Given the description of an element on the screen output the (x, y) to click on. 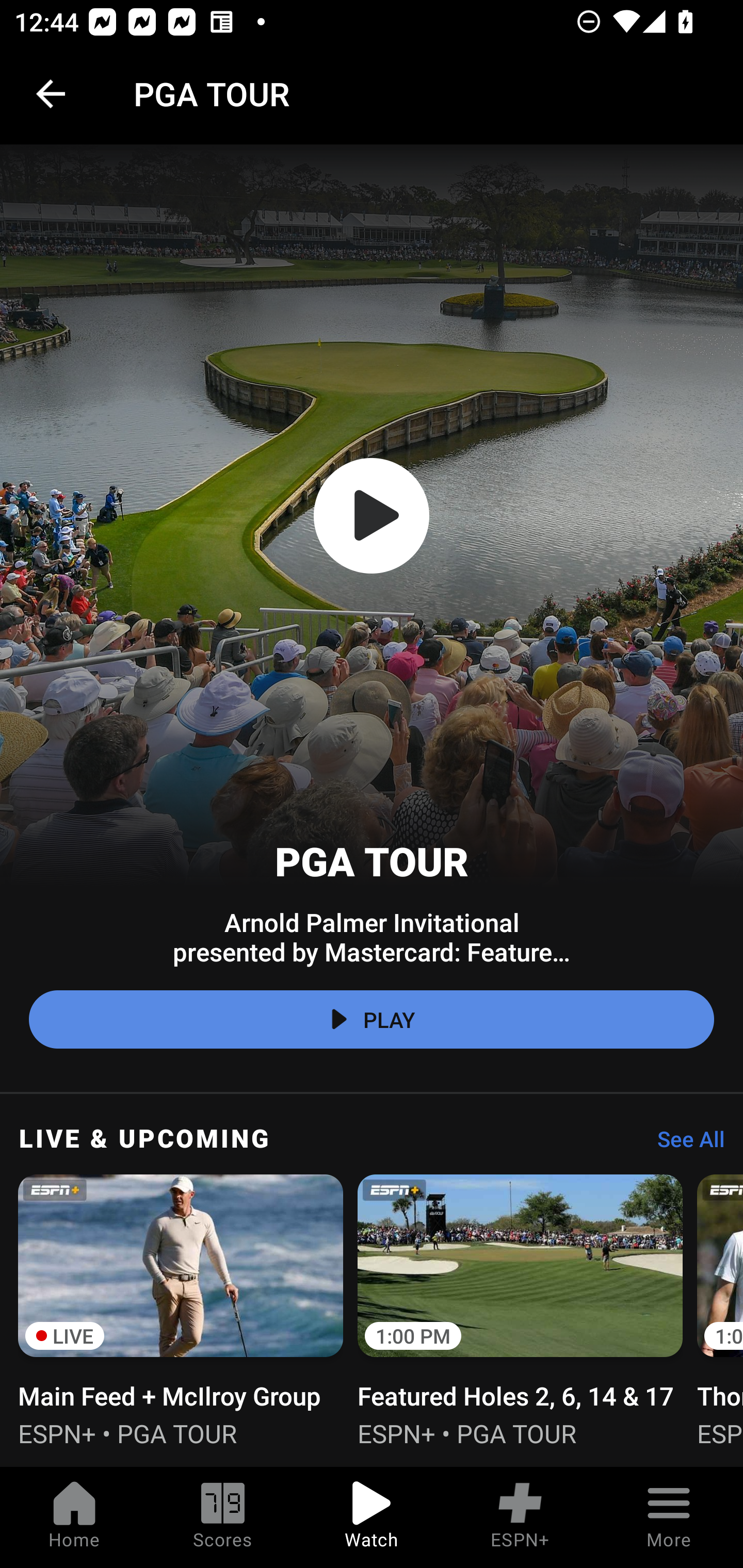
 (371, 515)
PLAY (371, 1019)
See All (683, 1143)
LIVE Main Feed + McIlroy Group ESPN+ • PGA TOUR (180, 1308)
Home (74, 1517)
Scores (222, 1517)
ESPN+ (519, 1517)
More (668, 1517)
